Given the description of an element on the screen output the (x, y) to click on. 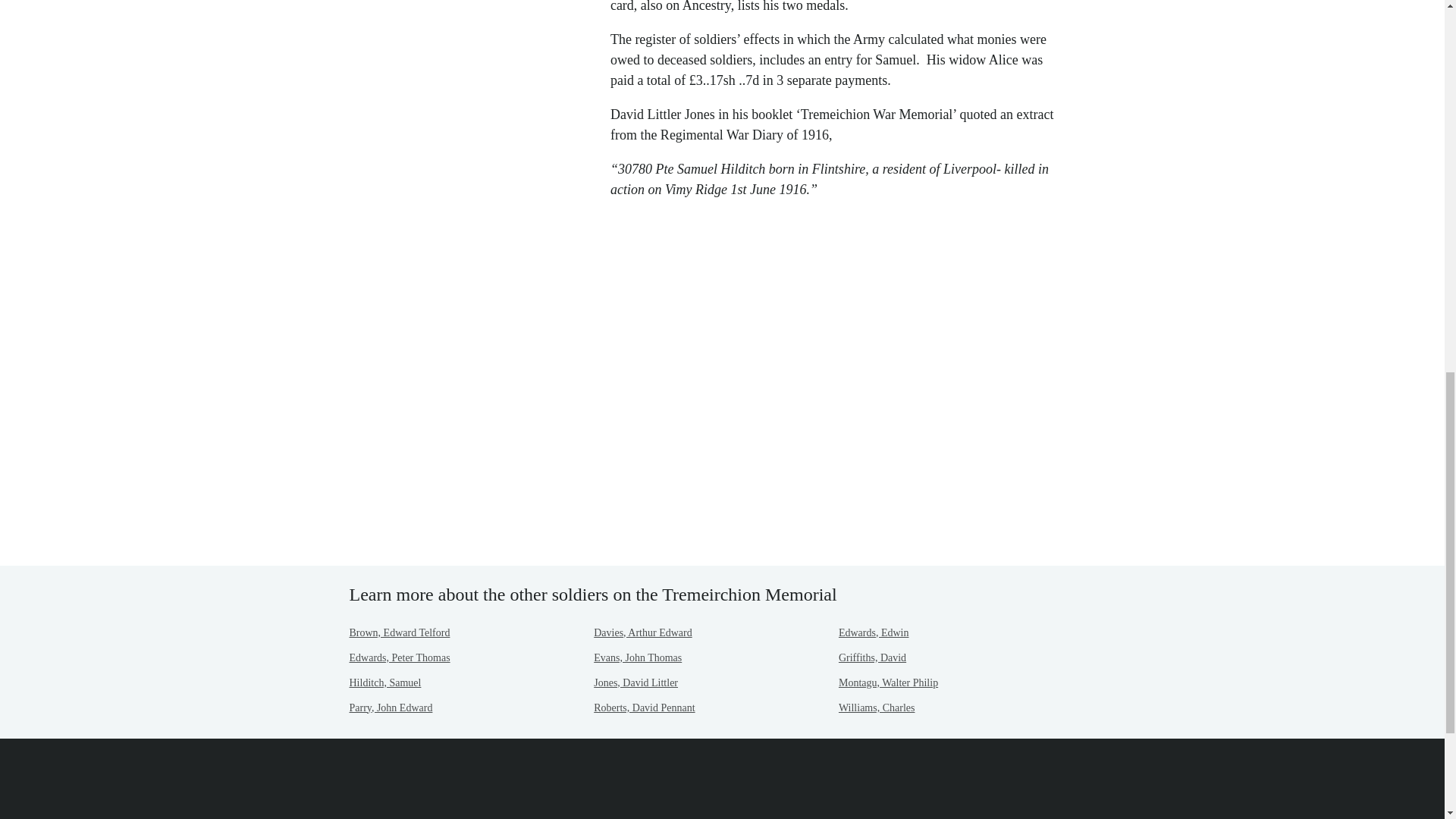
Roberts, David Pennant (644, 707)
Edwards, Edwin (873, 632)
Montagu, Walter Philip (887, 682)
Evans, John Thomas (637, 657)
Williams, Charles (876, 707)
Hilditch, Samuel (384, 682)
Davies, Arthur Edward (642, 632)
Griffiths, David (871, 657)
Edwards, Peter Thomas (399, 657)
Jones, David Littler (636, 682)
